Given the description of an element on the screen output the (x, y) to click on. 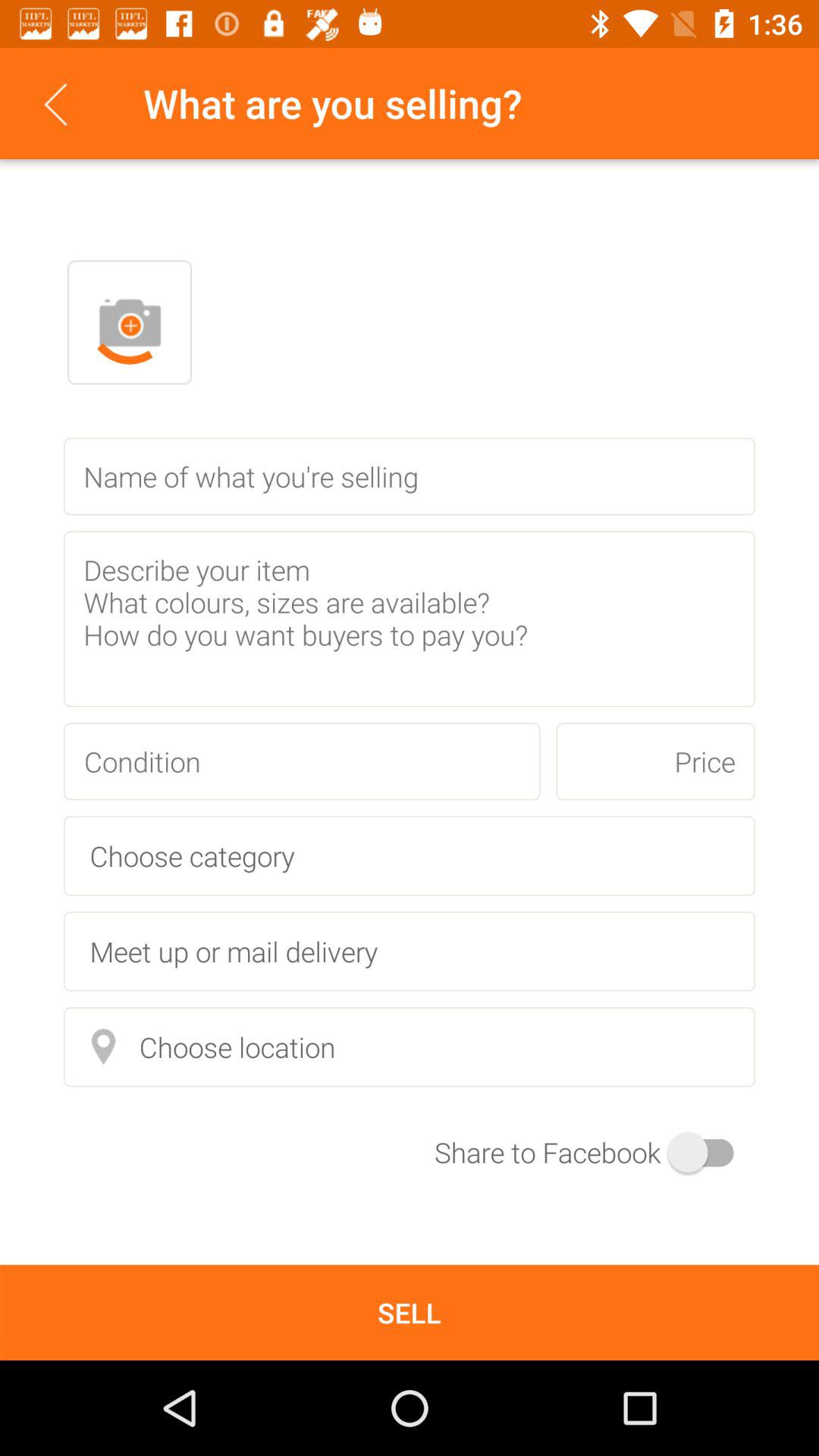
enter name (409, 476)
